Given the description of an element on the screen output the (x, y) to click on. 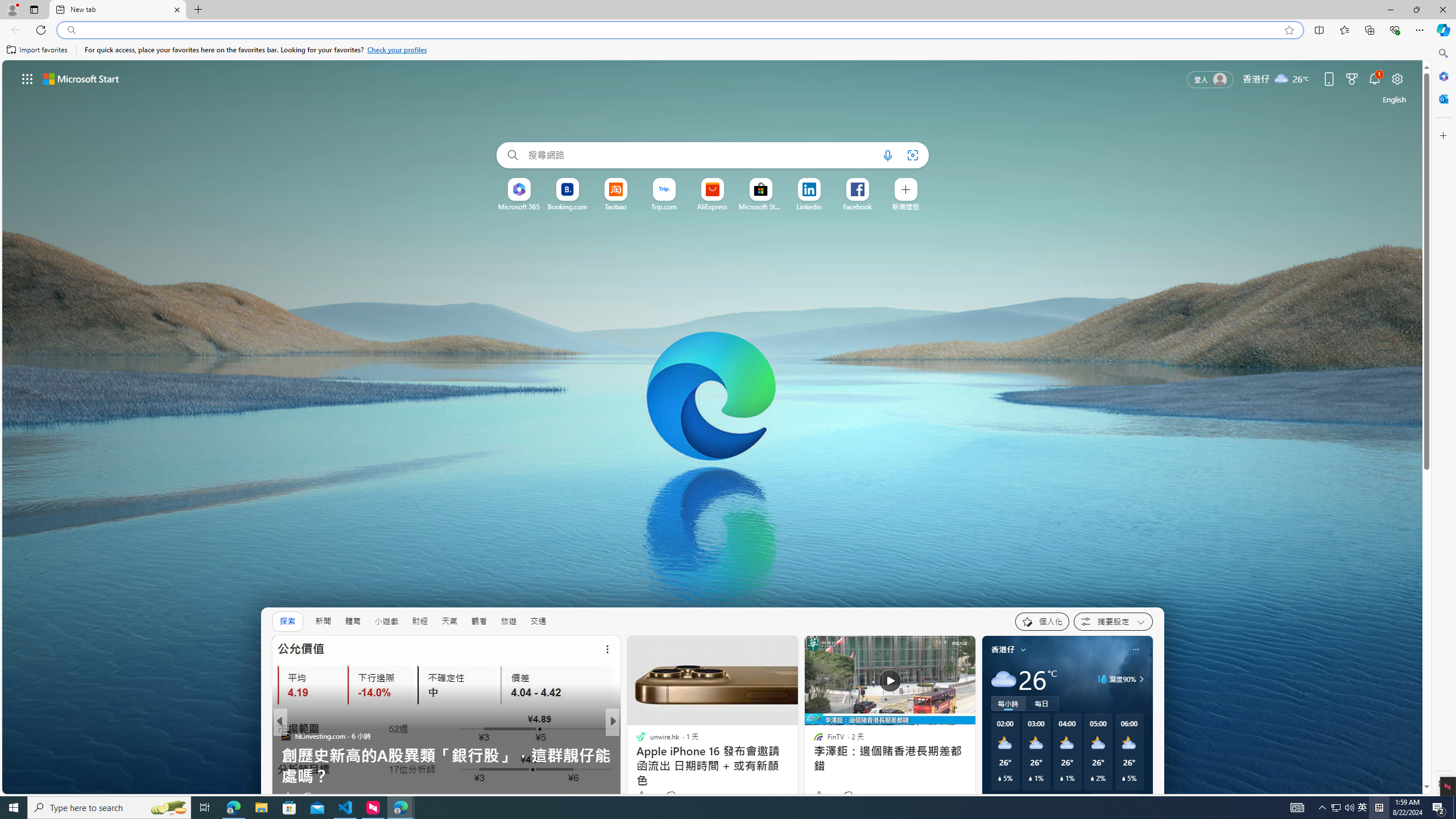
FiNET (635, 735)
Trip.com (663, 206)
